Given the description of an element on the screen output the (x, y) to click on. 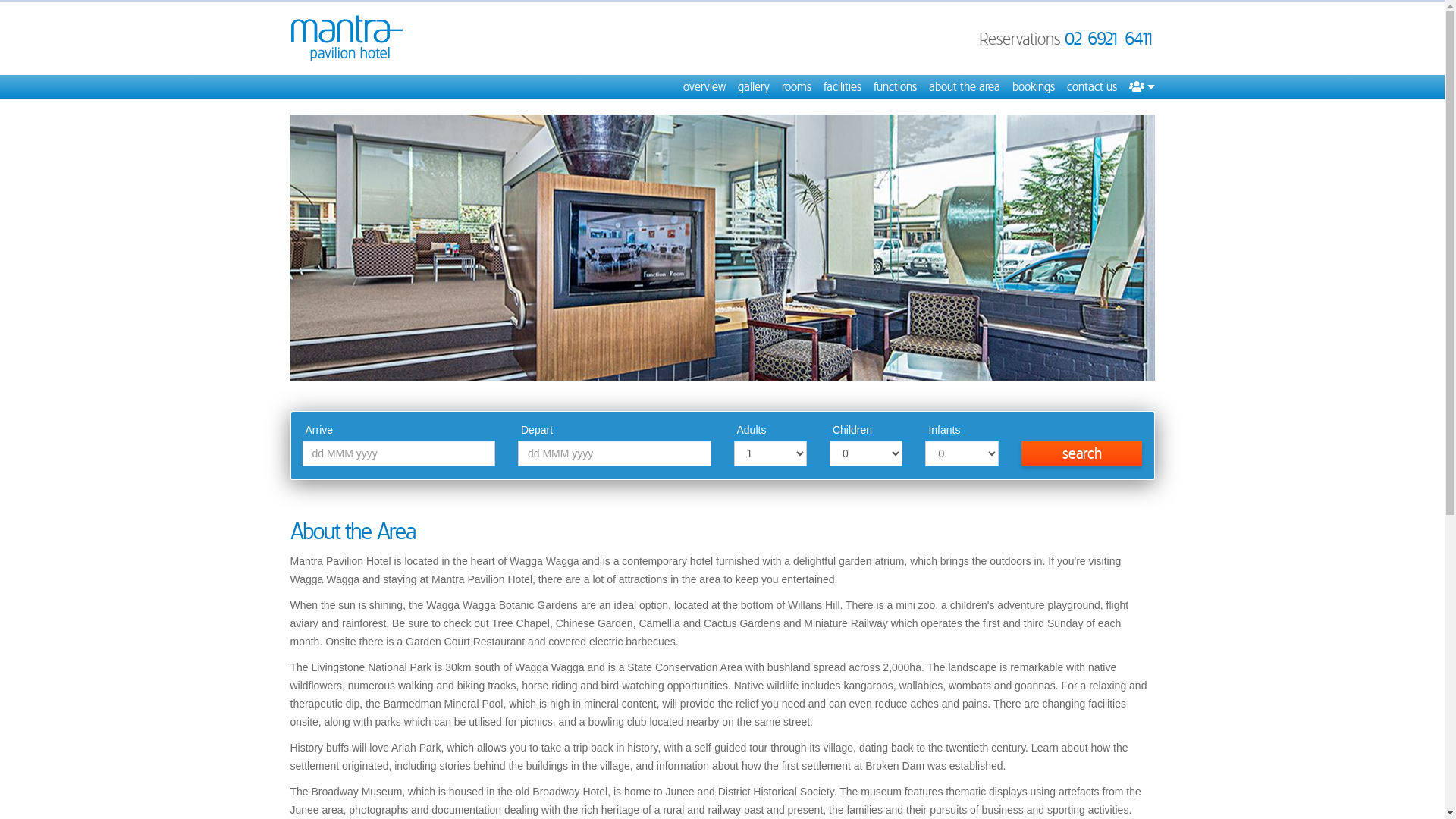
gallery Element type: text (752, 87)
bookings Element type: text (1032, 87)
functions Element type: text (894, 87)
about the area Element type: text (963, 87)
Lobby - Mantra Pavilion Hotel Element type: hover (721, 247)
contact us Element type: text (1091, 87)
Mantra Pavilion Hotel Element type: hover (346, 37)
02 6921 6411 Element type: text (1109, 38)
search Element type: text (1081, 453)
facilities Element type: text (842, 87)
overview Element type: text (703, 87)
rooms Element type: text (795, 87)
